Given the description of an element on the screen output the (x, y) to click on. 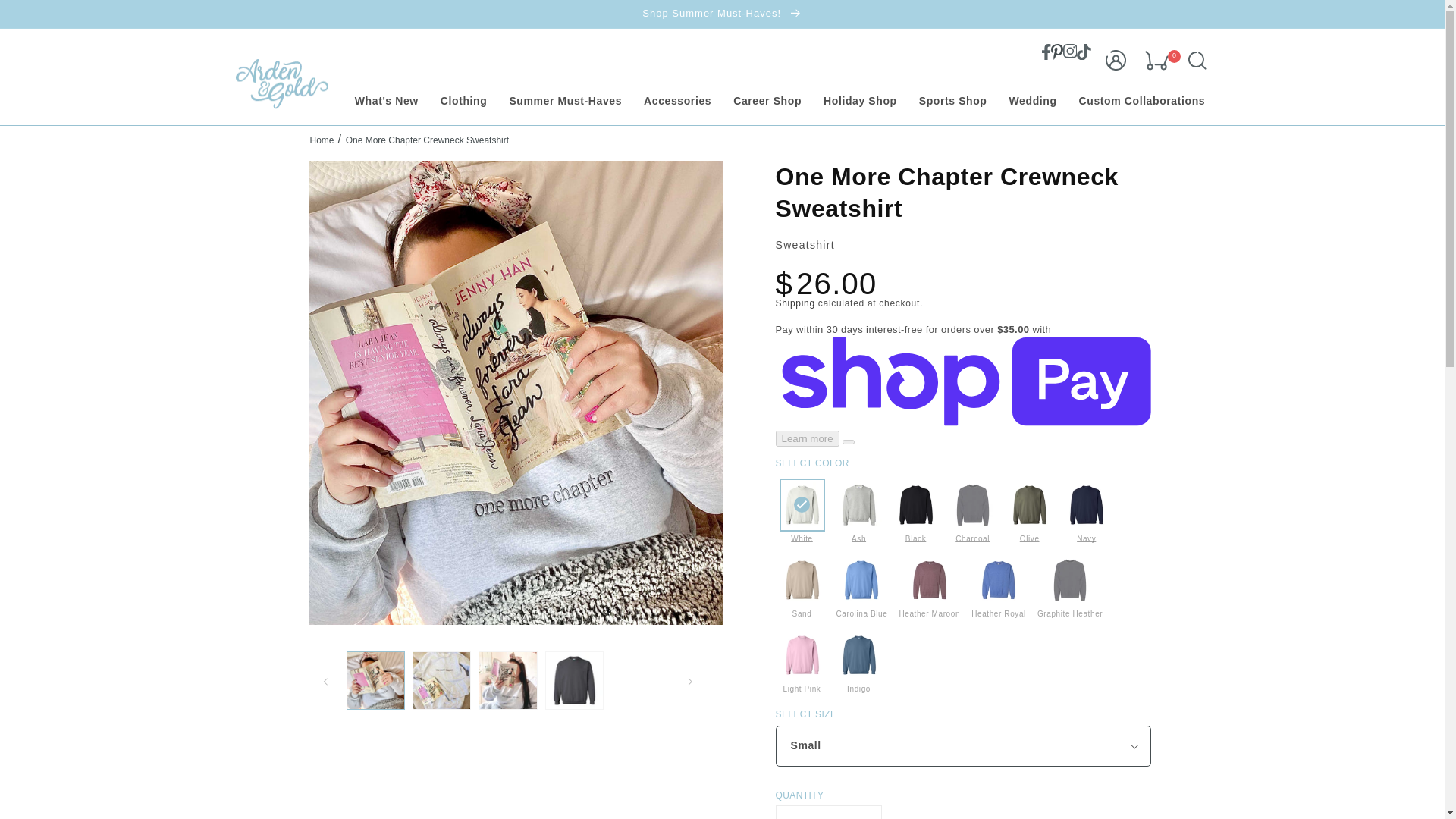
1 (827, 812)
